Given the description of an element on the screen output the (x, y) to click on. 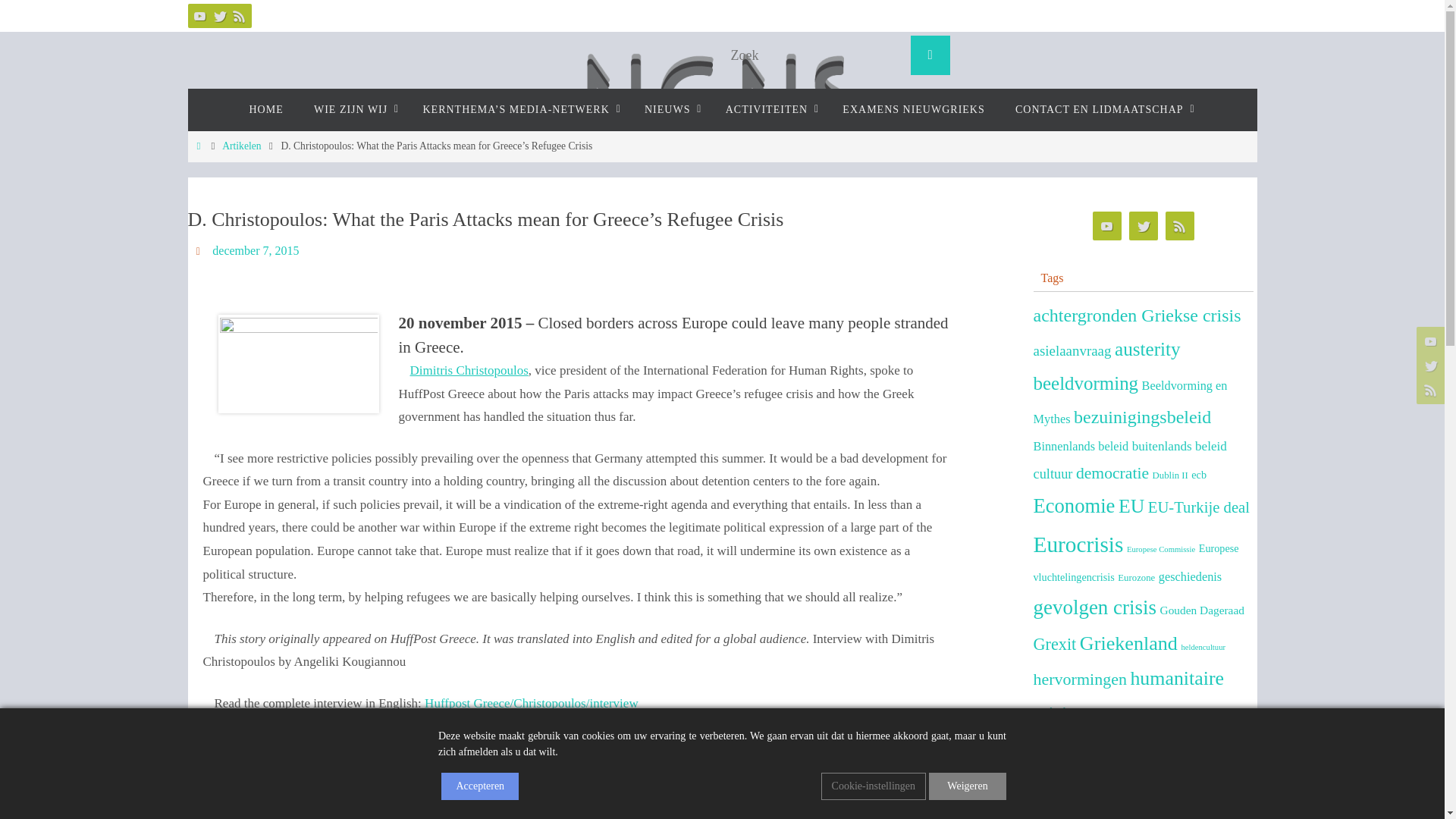
NIEUWS (668, 109)
Twitter (219, 15)
Nederlands Genootschap voor Nieuwgriekse studies (721, 126)
RSS (239, 15)
Twitter (1142, 225)
Datum (199, 250)
Zoek (929, 55)
HOME (265, 109)
WIE ZIJN WIJ (352, 109)
ACTIVITEITEN (768, 109)
YouTube (199, 15)
YouTube (1106, 225)
RSS (1178, 225)
